Given the description of an element on the screen output the (x, y) to click on. 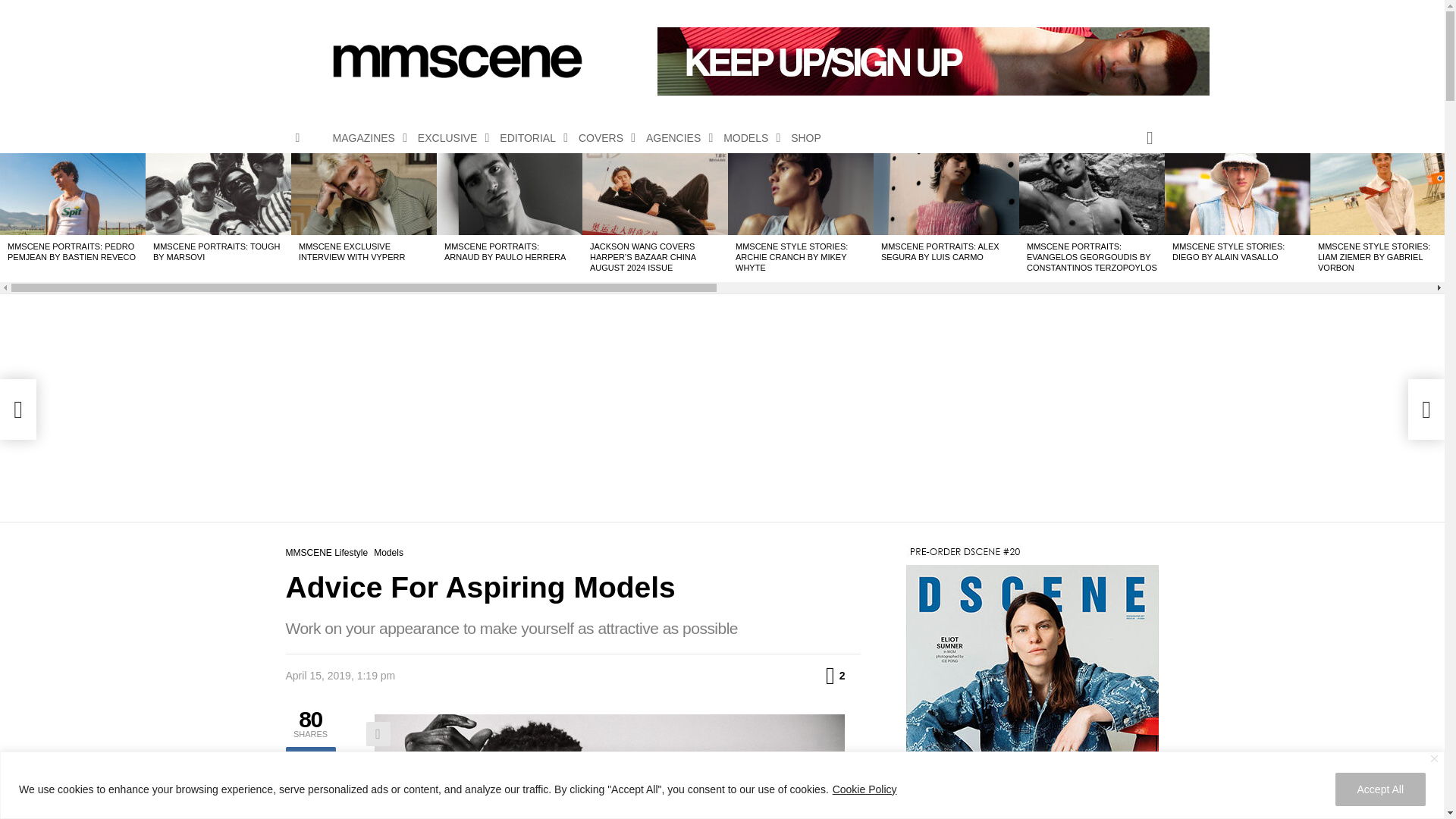
MAGAZINES (365, 137)
EDITORIAL (529, 137)
COVERS (602, 137)
MMSCENE PORTRAITS: Pedro Pemjean by Bastien Reveco (72, 194)
EXCLUSIVE (449, 137)
MMSCENE PORTRAITS: Tough by Marsovi (218, 194)
Menu (296, 137)
Accept All (1380, 788)
Cookie Policy (864, 789)
